Given the description of an element on the screen output the (x, y) to click on. 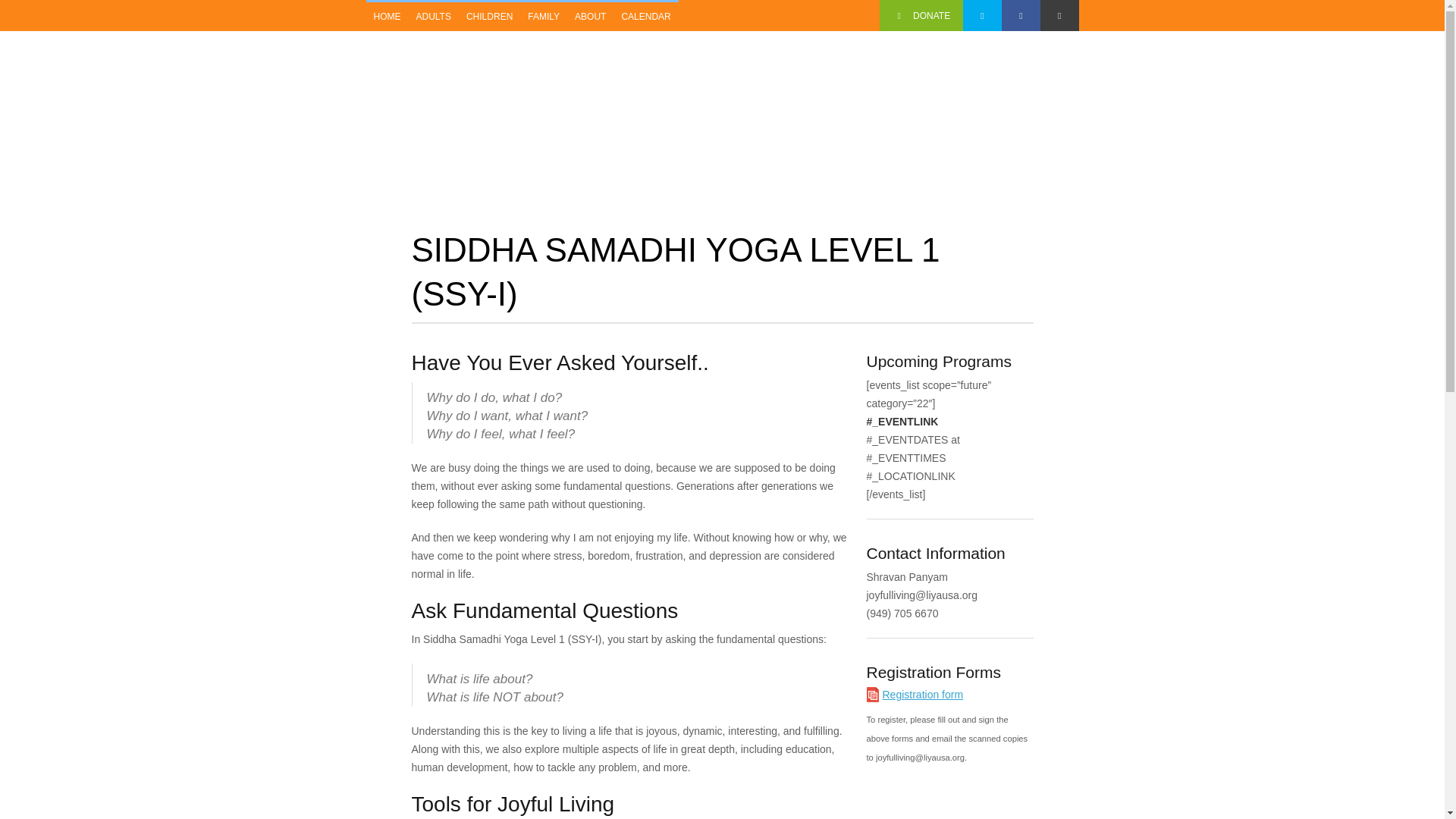
Registration form (922, 694)
CHILDREN (488, 16)
DONATE (921, 15)
Registration form (922, 694)
ABOUT (589, 16)
HOME (386, 16)
FAMILY (543, 16)
ADULTS (432, 16)
CALENDAR (645, 16)
